Given the description of an element on the screen output the (x, y) to click on. 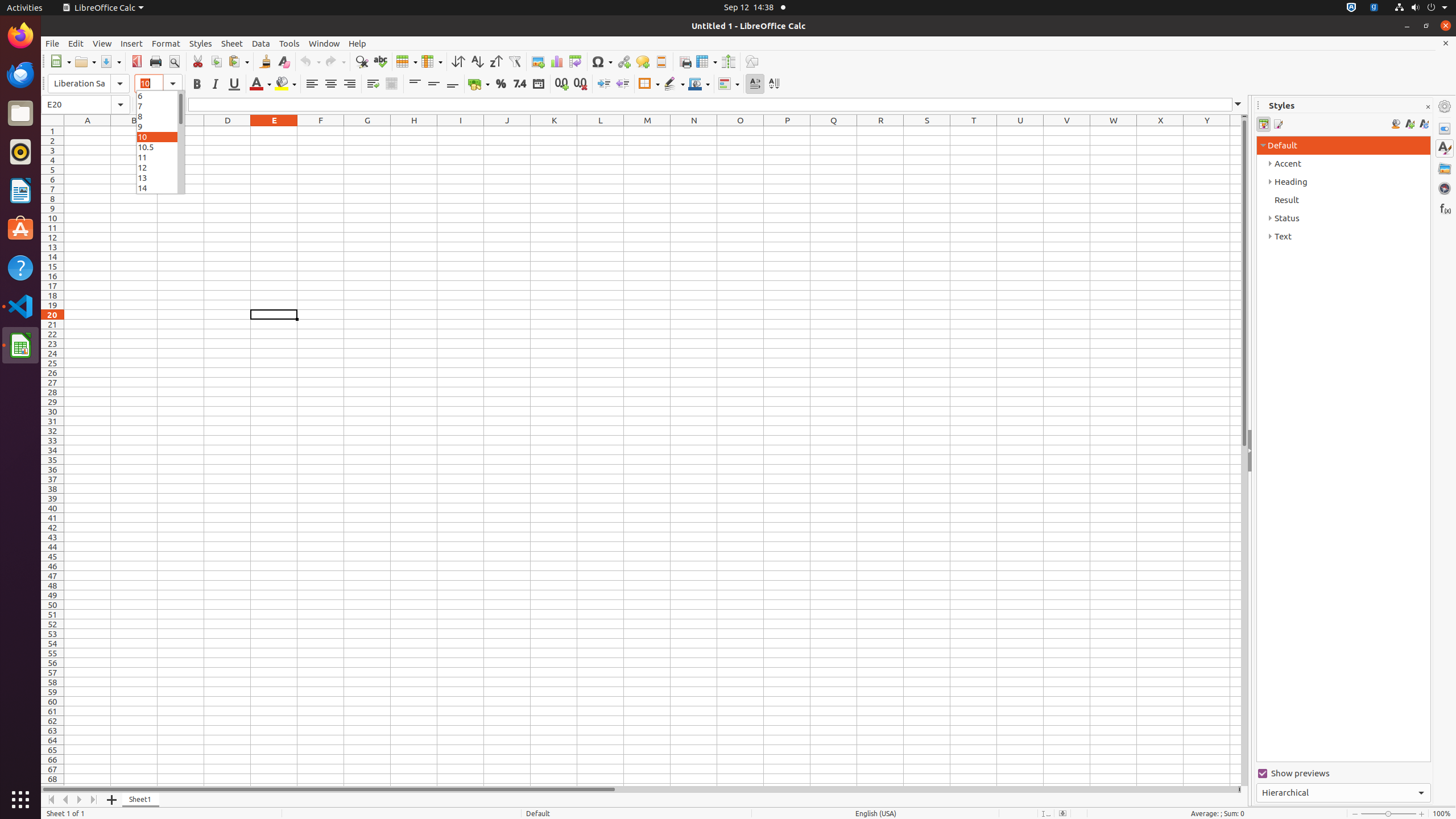
System Element type: menu (1420, 7)
Edit Element type: menu (75, 43)
Font Name Element type: combo-box (88, 83)
File Element type: menu (51, 43)
Vertical scroll bar Element type: scroll-bar (1244, 451)
